Given the description of an element on the screen output the (x, y) to click on. 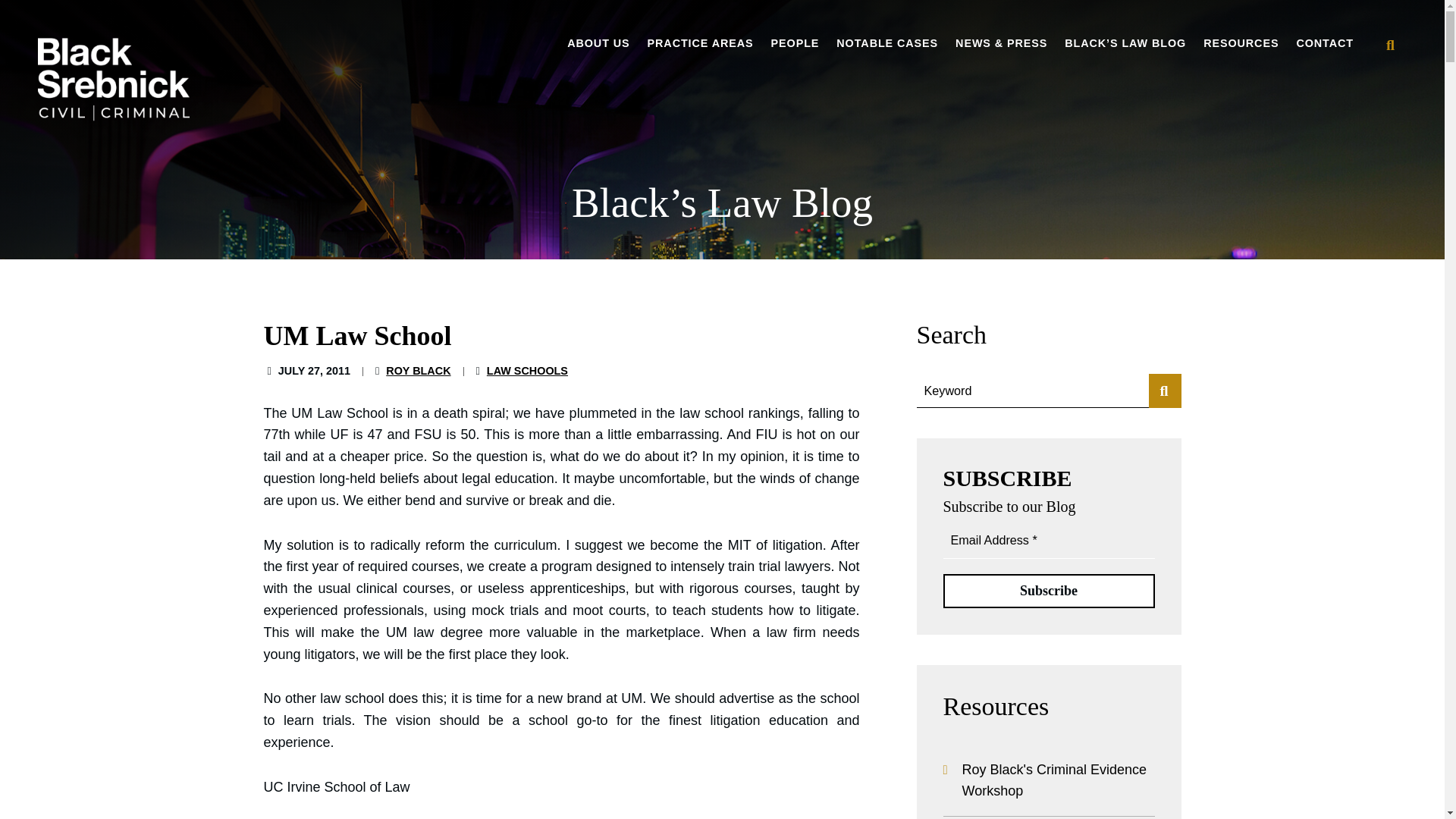
Posts by Roy Black (417, 370)
Subscribe (1048, 591)
Email Address (1048, 541)
